Given the description of an element on the screen output the (x, y) to click on. 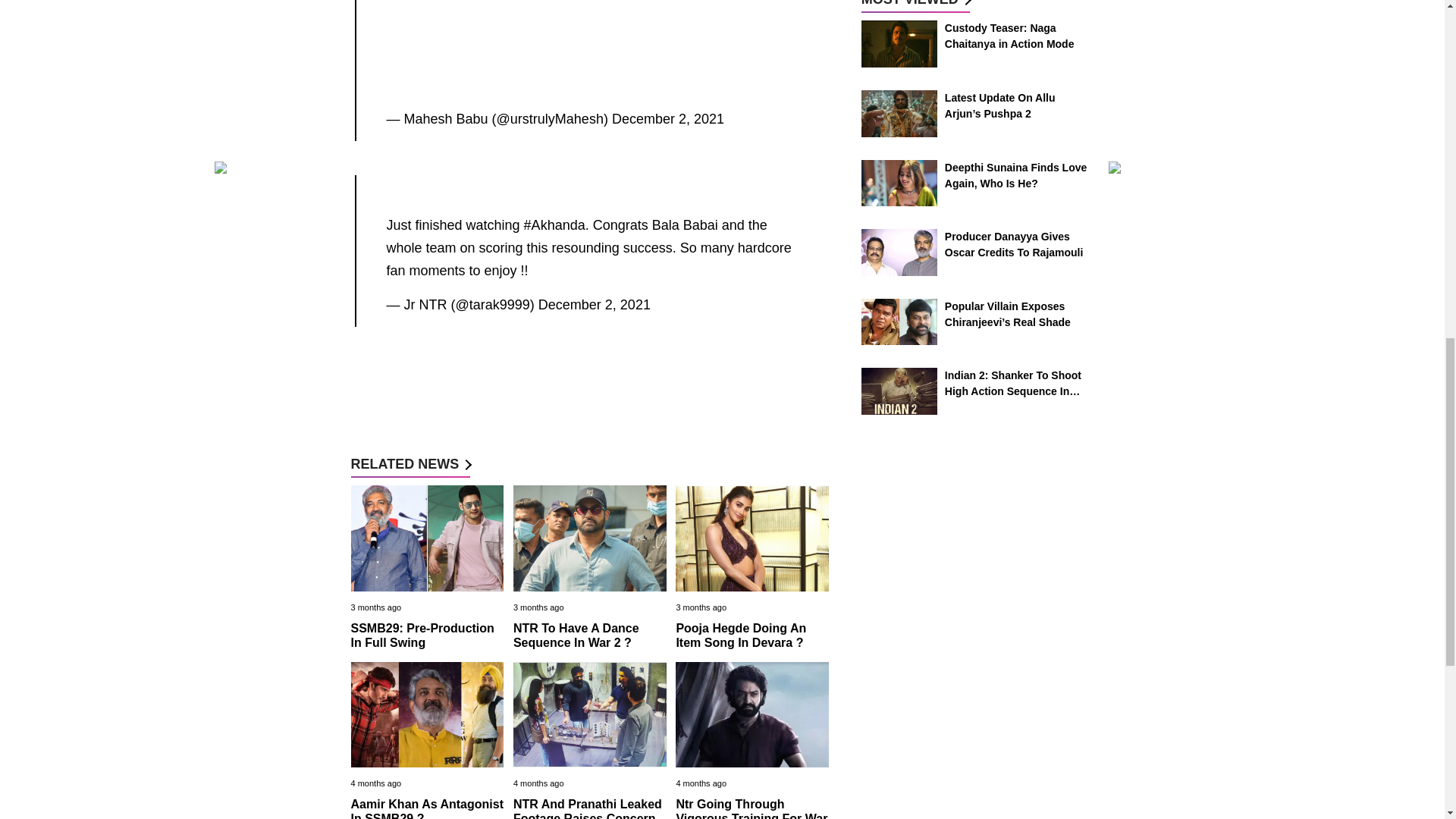
NTR And Pranathi Leaked Footage Raises Concern (587, 808)
Advertisement (596, 36)
SSMB29: Pre-Production In Full Swing (421, 635)
Aamir Khan As Antagonist In SSMB29 ? (426, 808)
Aamir Khan As Antagonist In SSMB29 ? (426, 808)
NTR To Have A Dance Sequence In War 2 ? (576, 635)
NTR To Have A Dance Sequence In War 2 ? (576, 635)
Pooja Hegde Doing An Item Song In Devara ? (740, 635)
SSMB29: Pre-Production In Full Swing (421, 635)
Pooja Hegde Doing An Item Song In Devara ? (740, 635)
December 2, 2021 (667, 118)
Ntr Going Through Vigorous Training For War 2 (751, 808)
December 2, 2021 (594, 304)
